Given the description of an element on the screen output the (x, y) to click on. 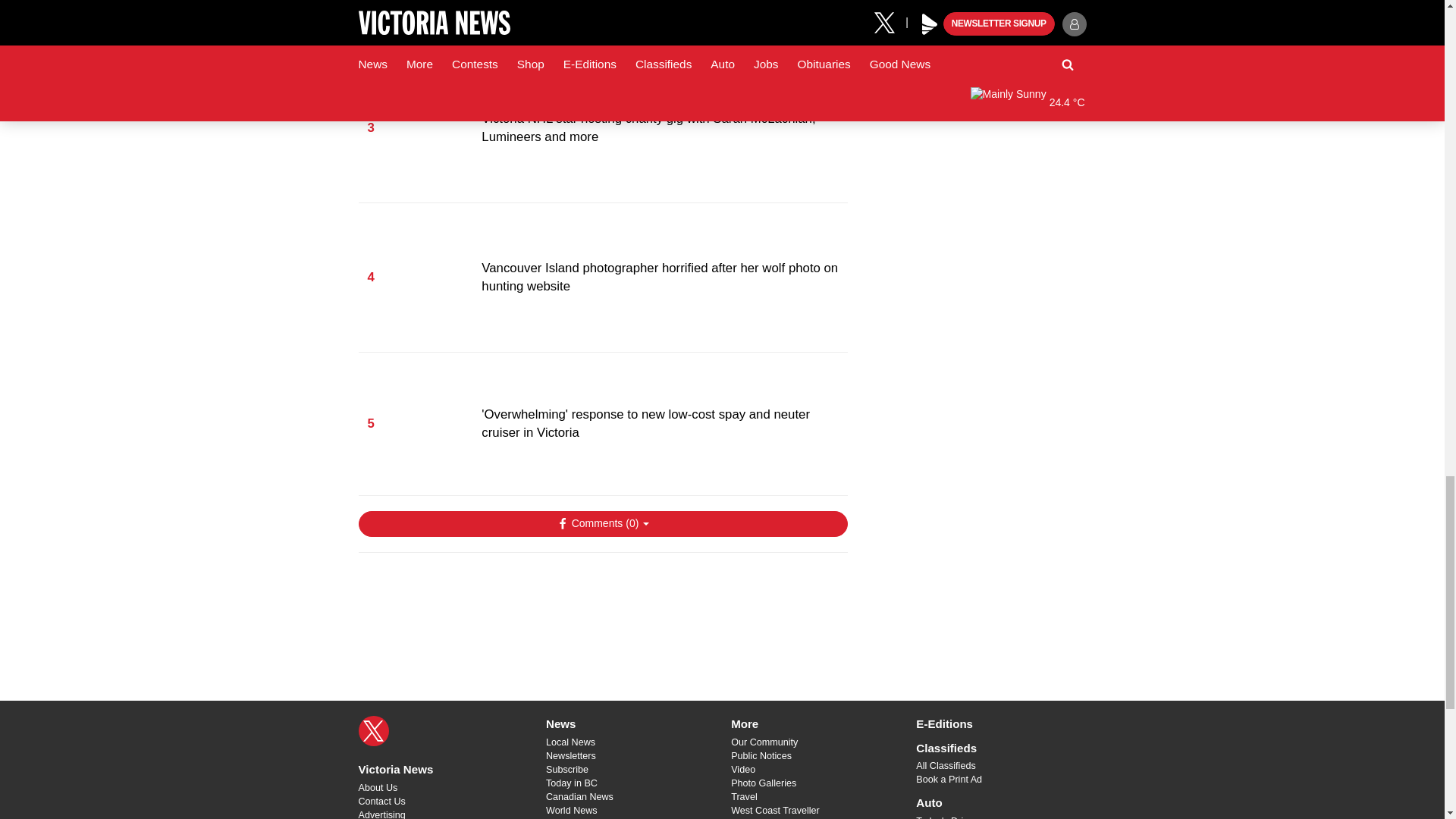
X (373, 730)
Show Comments (602, 524)
